Given the description of an element on the screen output the (x, y) to click on. 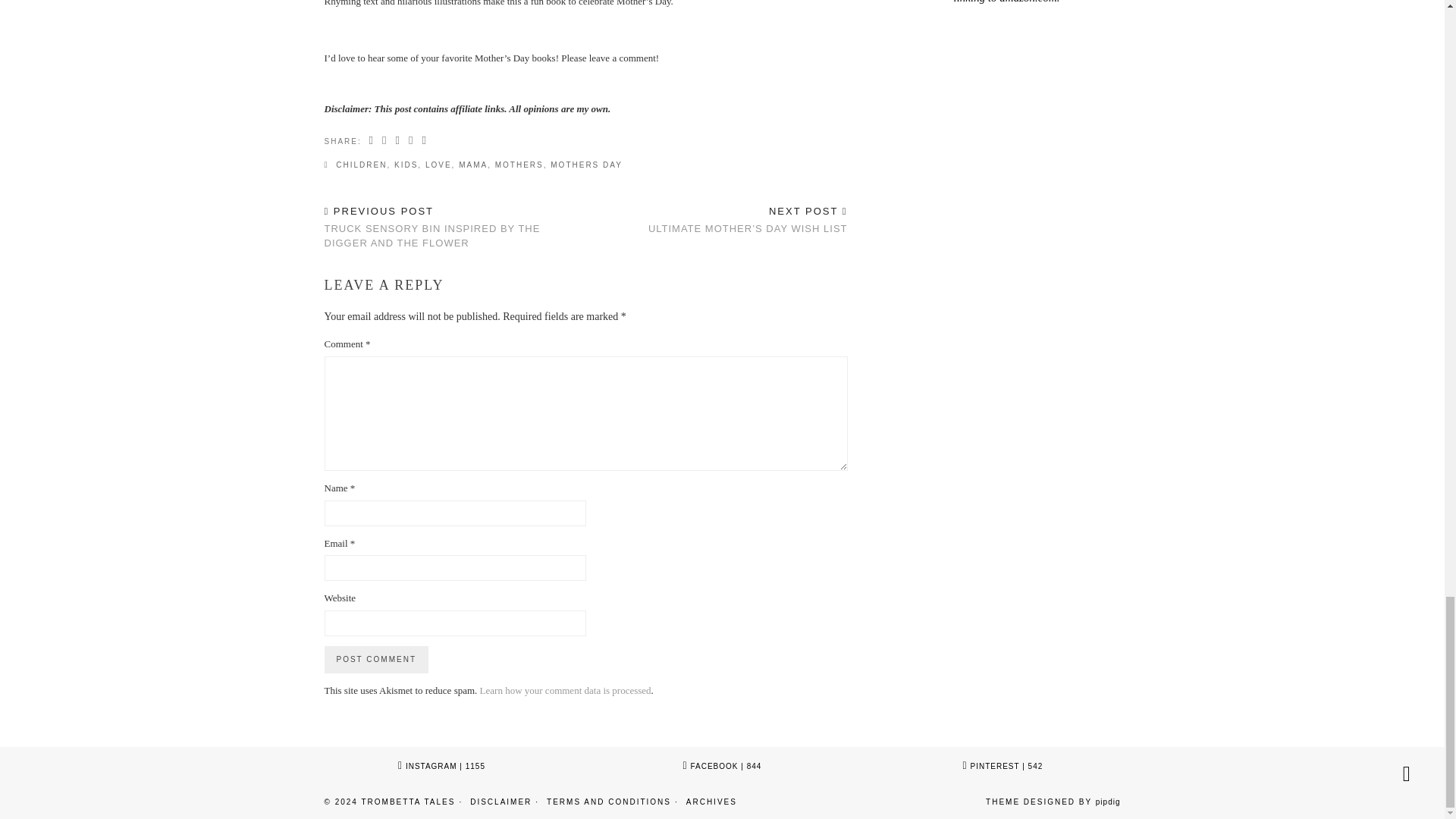
Share via email (371, 141)
Share on tumblr (423, 141)
Post Comment (376, 659)
Share on Twitter (397, 141)
Share on Pinterest (410, 141)
Share on Facebook (384, 141)
